Given the description of an element on the screen output the (x, y) to click on. 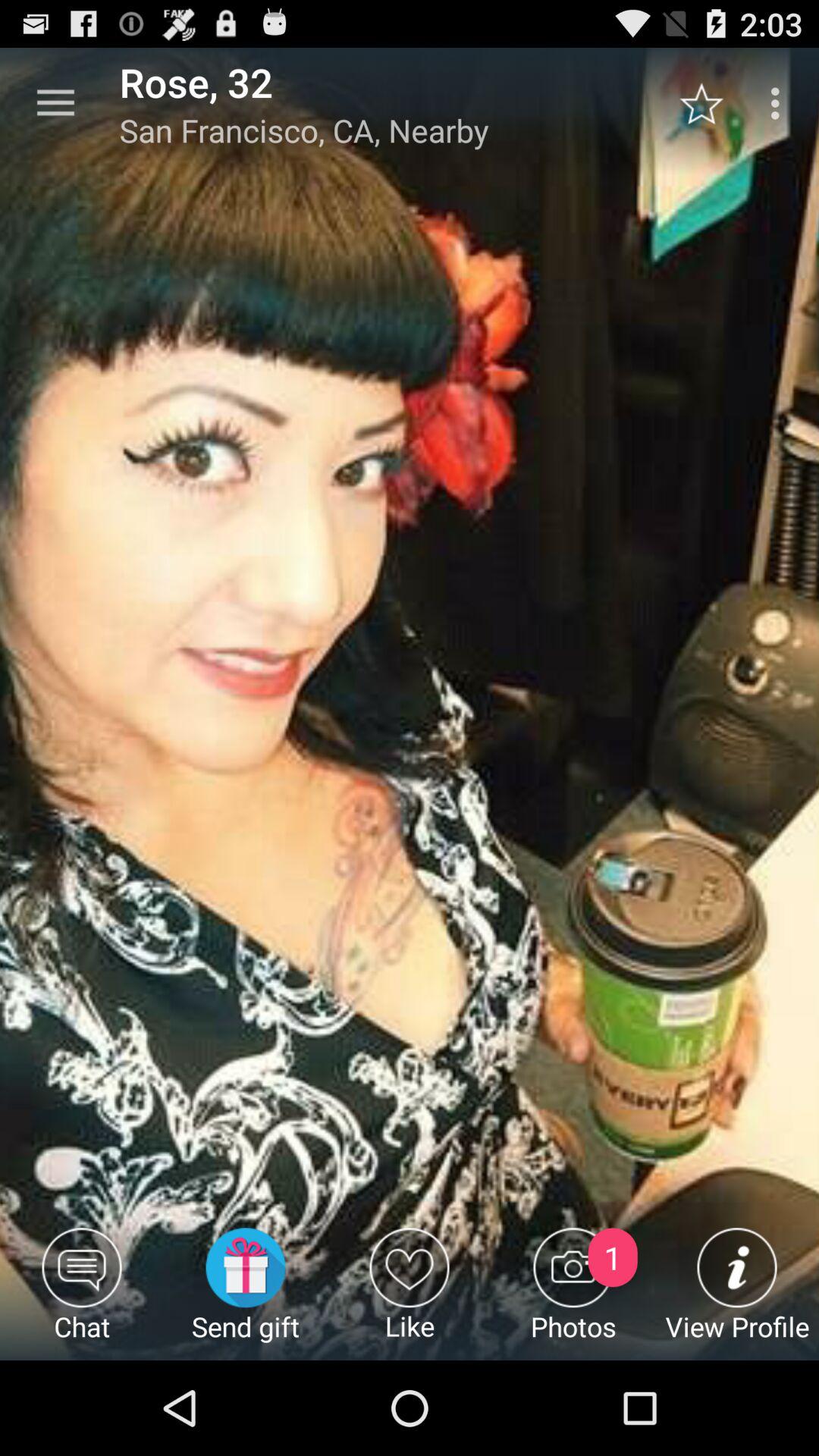
scroll to like (409, 1293)
